Given the description of an element on the screen output the (x, y) to click on. 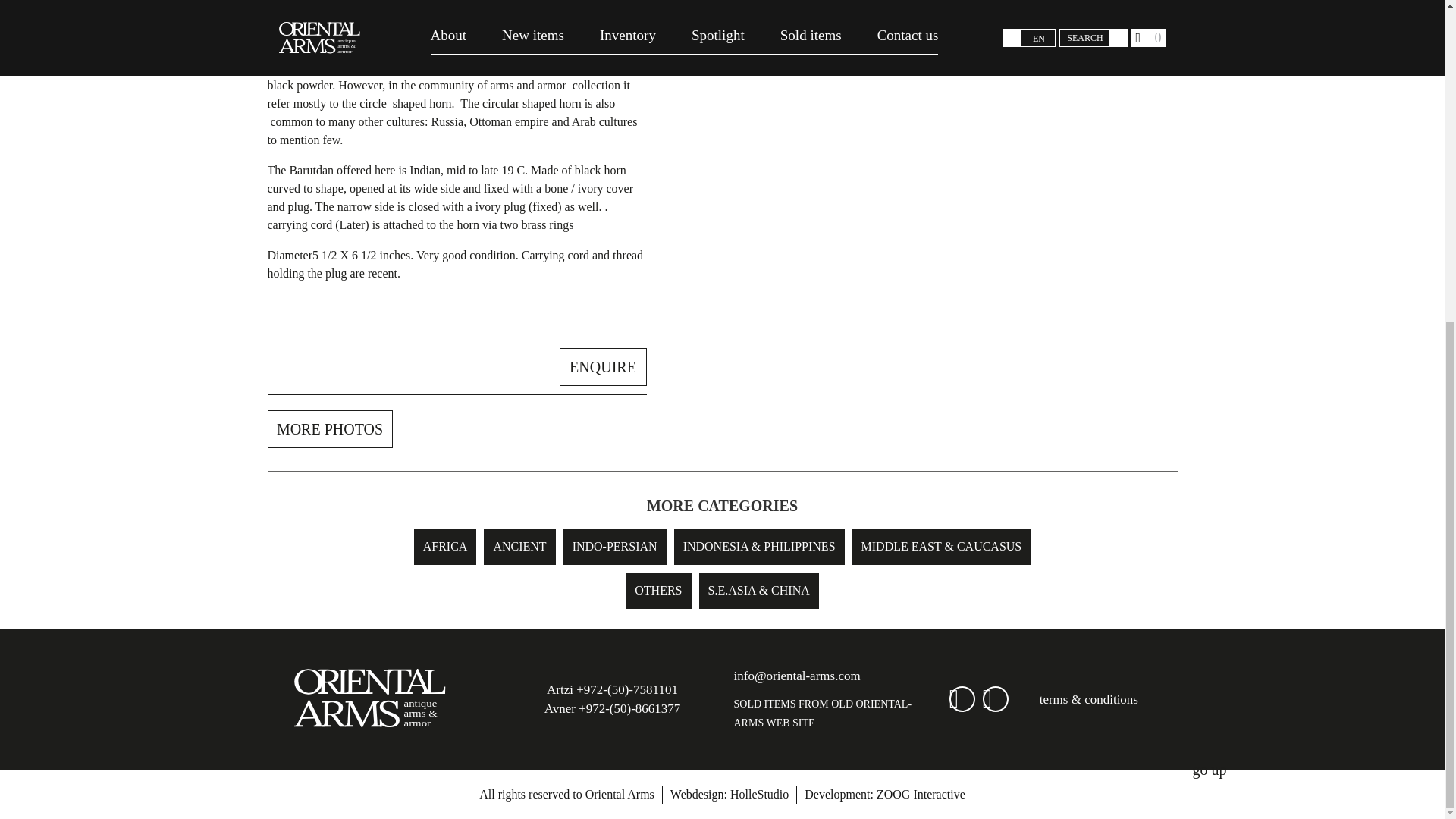
go up (1208, 243)
ANCIENT (519, 546)
MORE PHOTOS (328, 428)
AFRICA (445, 546)
ENQUIRE (602, 366)
go up (1208, 243)
